Given the description of an element on the screen output the (x, y) to click on. 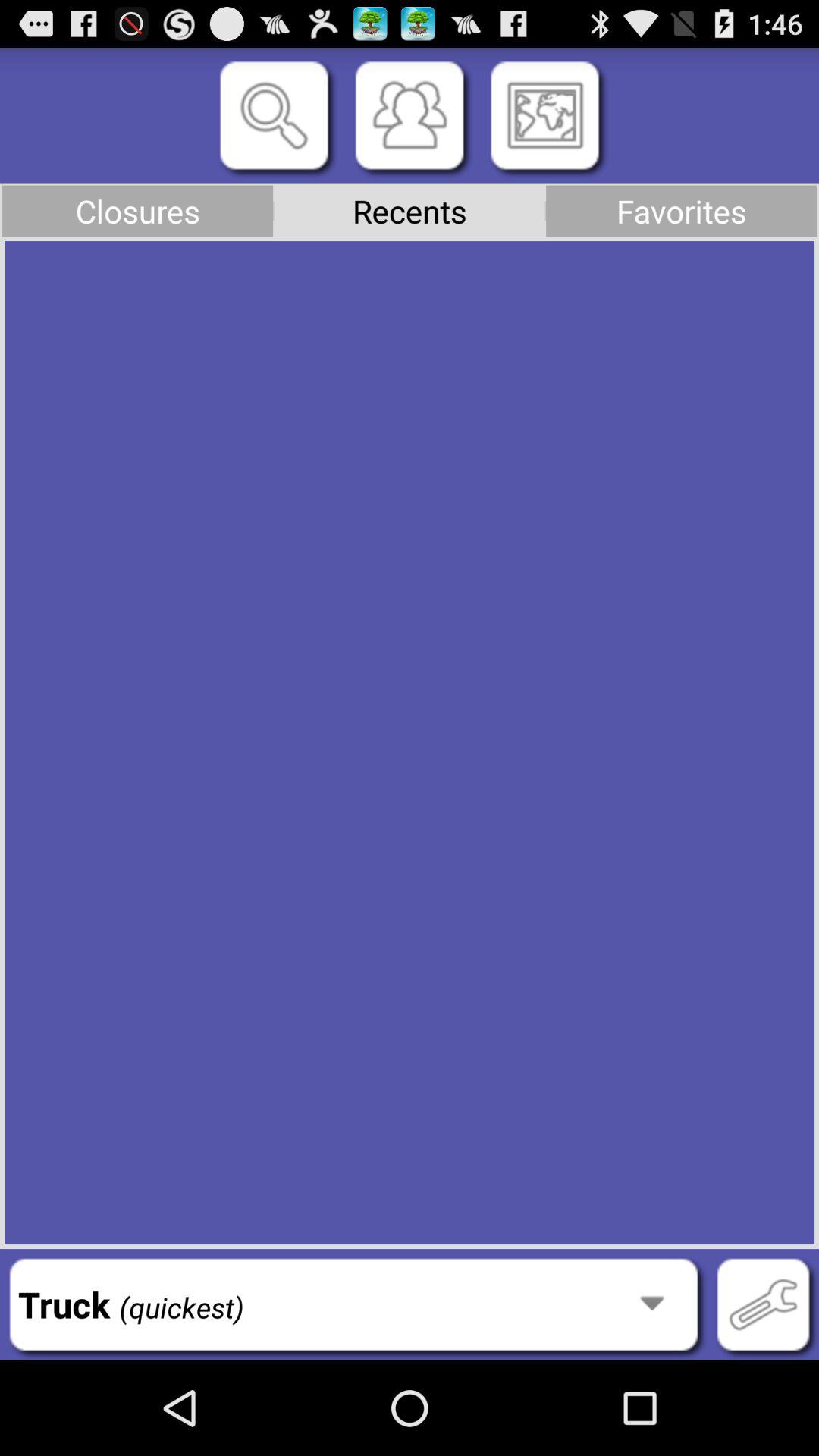
scroll to truck (quickest) item (353, 1304)
